Given the description of an element on the screen output the (x, y) to click on. 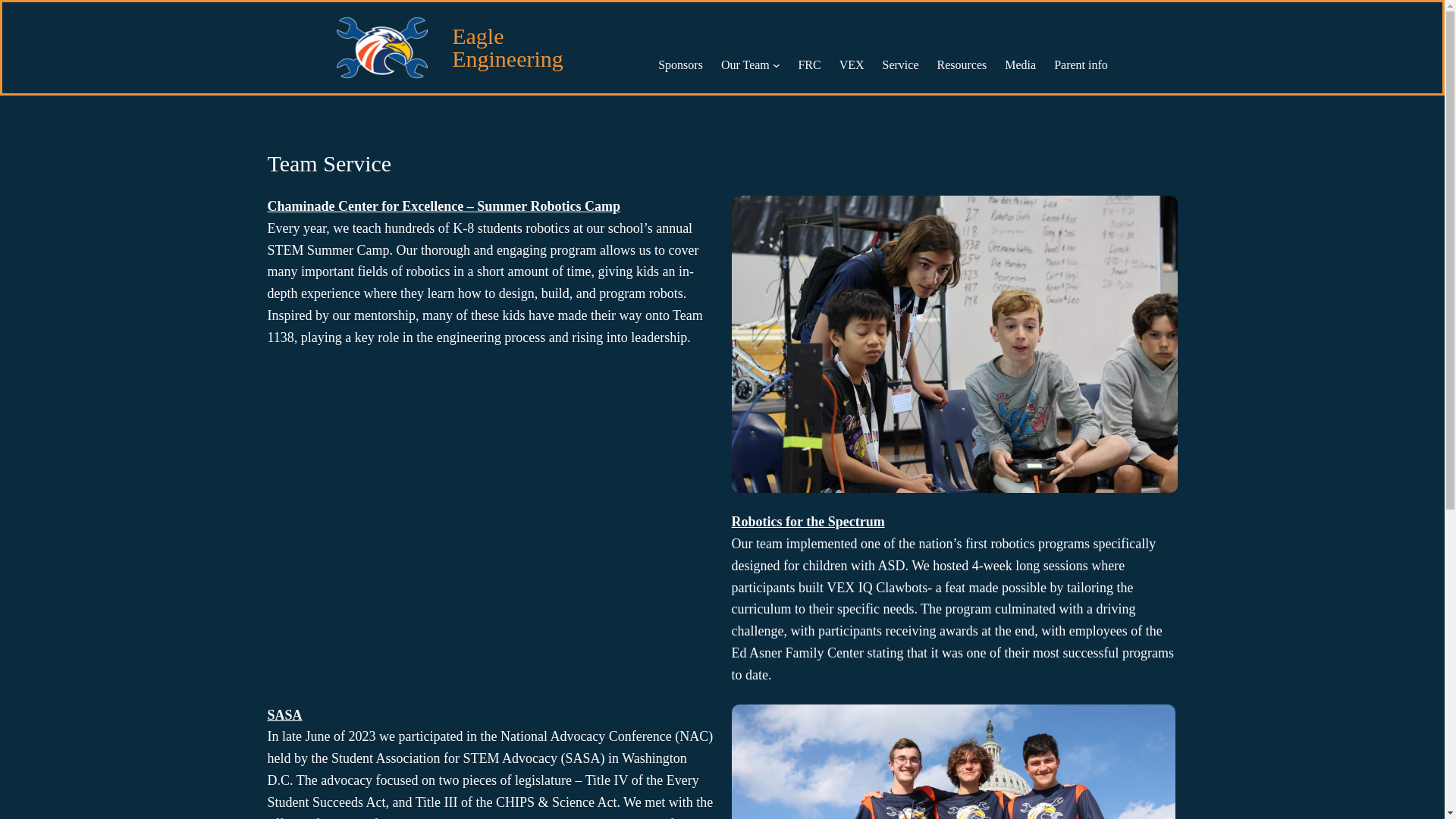
Sponsors (680, 65)
VEX (852, 65)
Parent info (1081, 65)
FRC (809, 65)
Service (900, 65)
Our Team (745, 65)
Media (1019, 65)
Resources (962, 65)
